Given the description of an element on the screen output the (x, y) to click on. 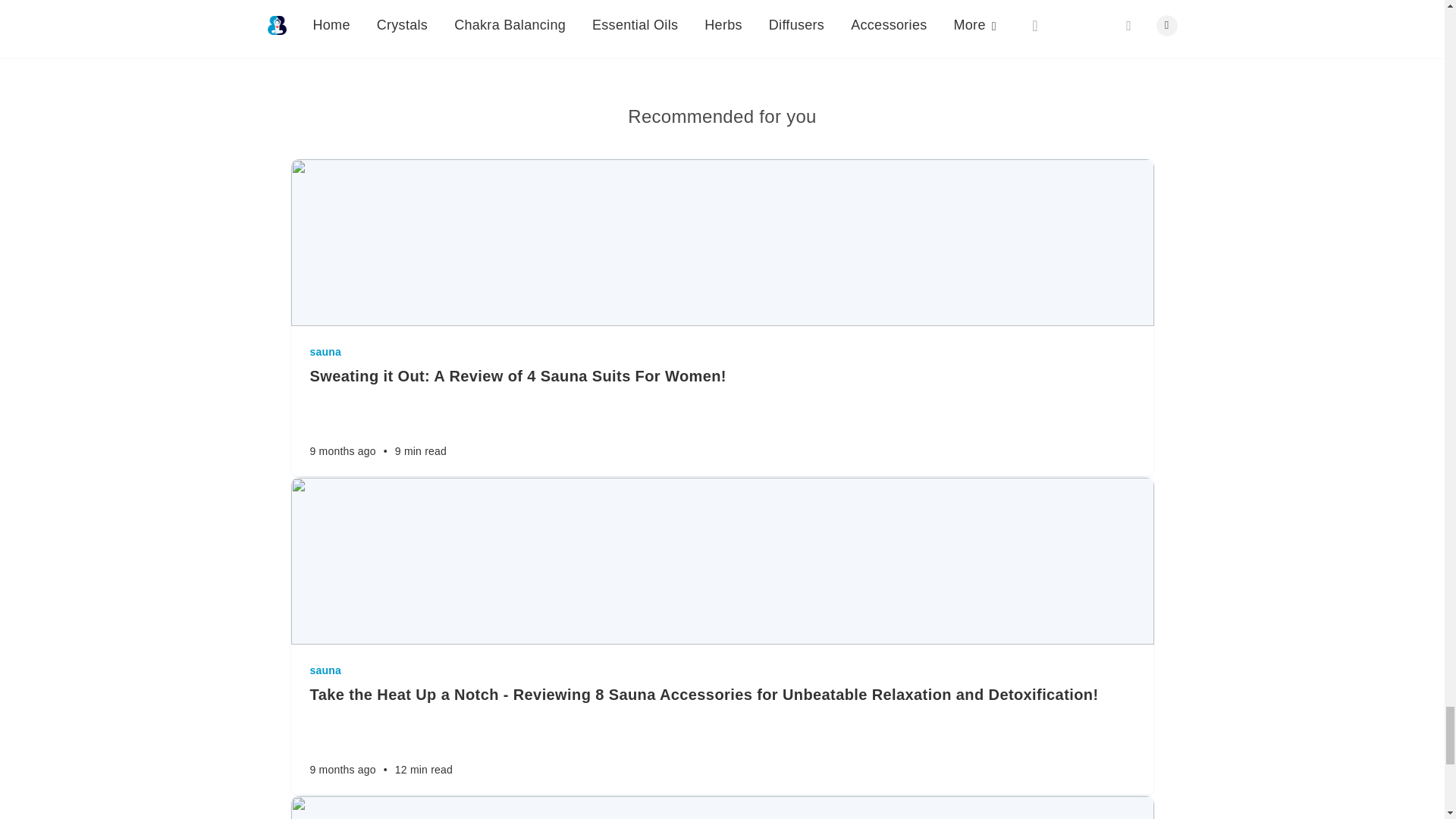
Sweating it Out: A Review of 4 Sauna Suits For Women! (721, 375)
